Given the description of an element on the screen output the (x, y) to click on. 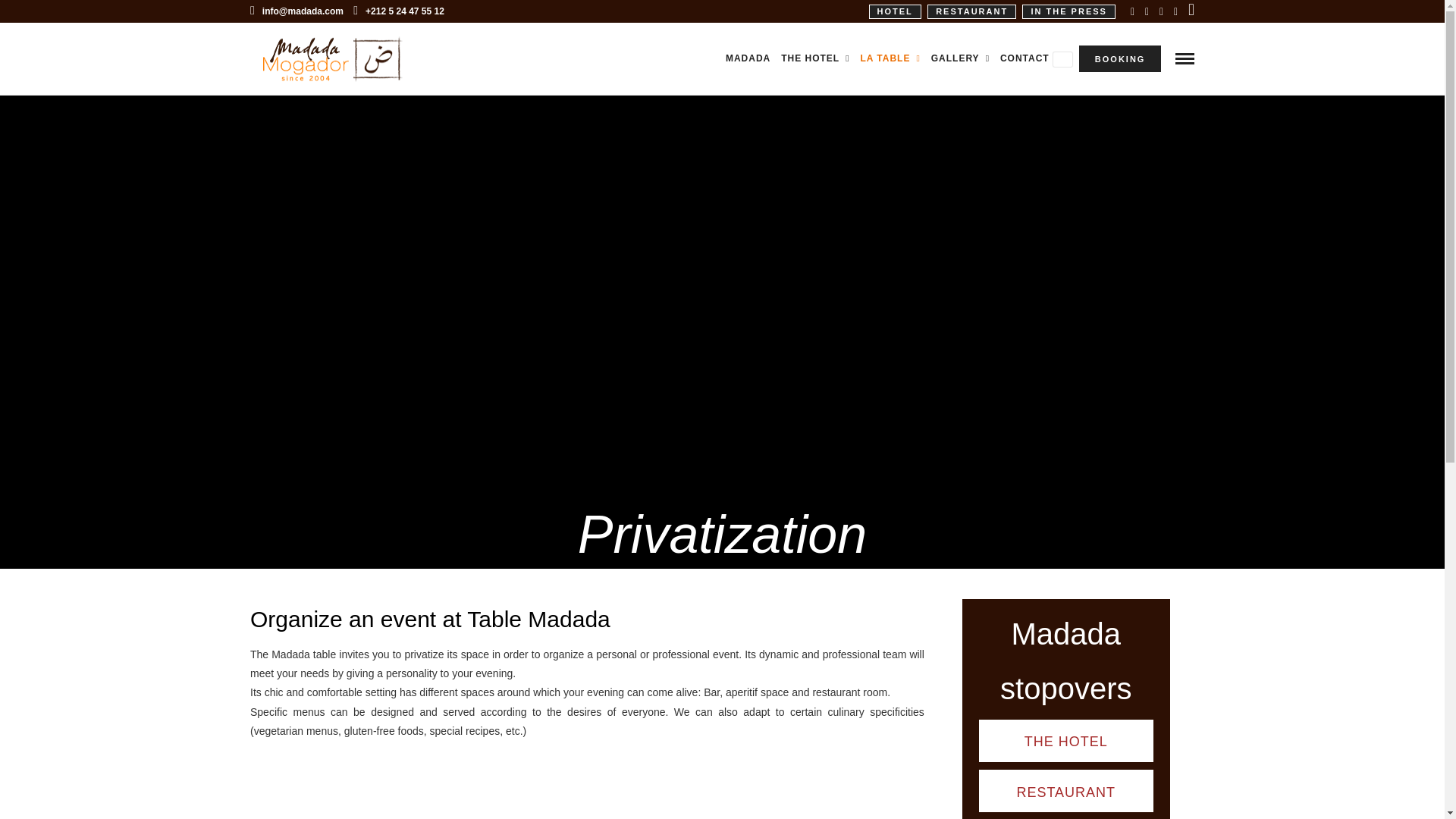
IN THE PRESS (1068, 11)
BOOKING (1119, 58)
RESTAURANT (971, 11)
HOTEL (895, 11)
